Given the description of an element on the screen output the (x, y) to click on. 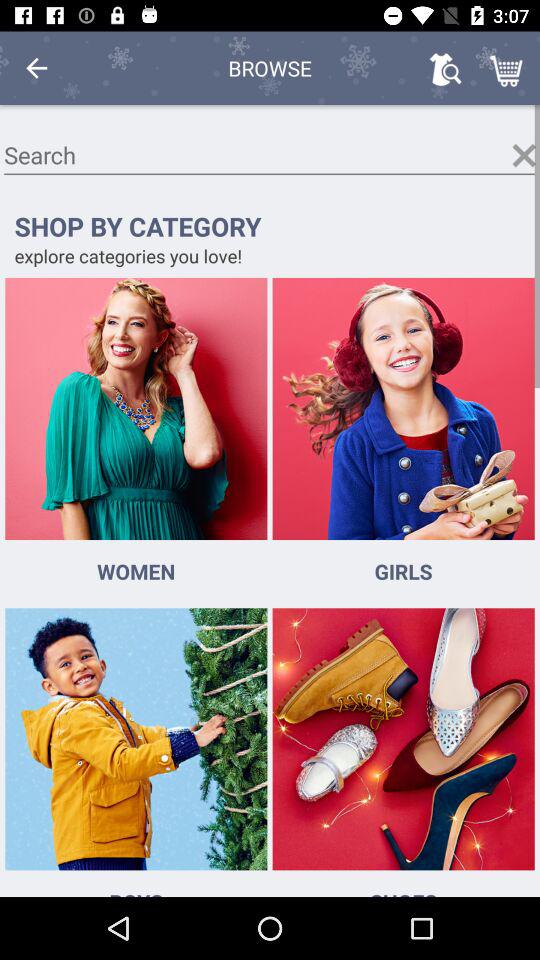
search here (270, 155)
